Given the description of an element on the screen output the (x, y) to click on. 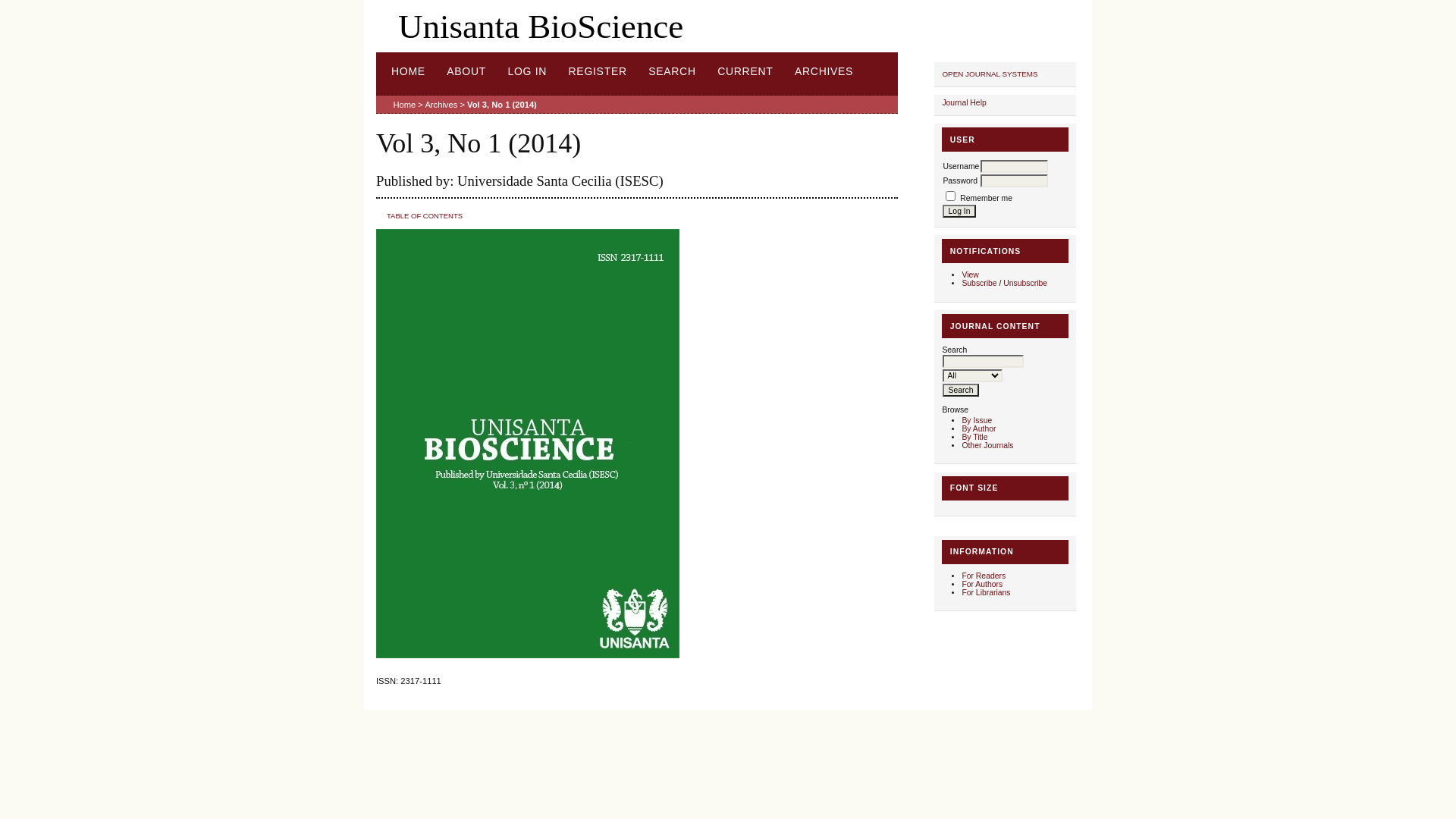
For Librarians Element type: text (985, 592)
TABLE OF CONTENTS Element type: text (424, 215)
SEARCH Element type: text (672, 71)
LOG IN Element type: text (526, 71)
REGISTER Element type: text (597, 71)
By Author Element type: text (978, 428)
Home Element type: text (403, 104)
OPEN JOURNAL SYSTEMS Element type: text (989, 73)
ARCHIVES Element type: text (823, 71)
ABOUT Element type: text (466, 71)
Other Journals Element type: text (987, 445)
CURRENT Element type: text (744, 71)
HOME Element type: text (408, 71)
Archives Element type: text (440, 104)
Log In Element type: text (958, 210)
For Readers Element type: text (983, 575)
Vol 3, No 1 (2014) Element type: text (501, 104)
Search Element type: text (960, 389)
Unsubscribe Element type: text (1025, 283)
By Issue Element type: text (976, 420)
View Element type: text (969, 274)
For Authors Element type: text (981, 584)
Journal Help Element type: text (963, 102)
By Title Element type: text (974, 437)
Subscribe Element type: text (978, 283)
